Given the description of an element on the screen output the (x, y) to click on. 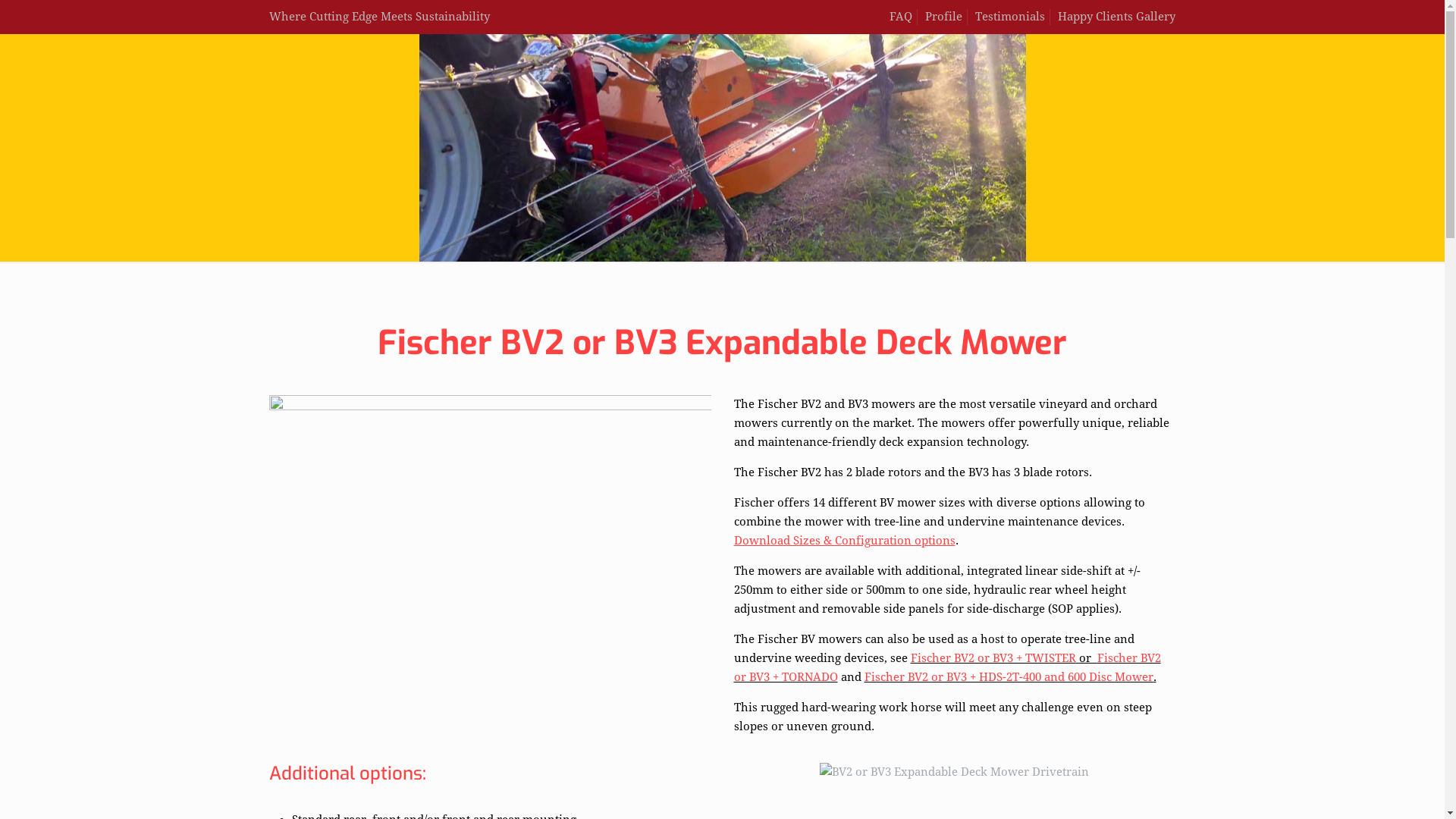
17 Display pic3 Element type: hover (490, 539)
Download Sizes & Configuration options Element type: text (844, 540)
Testimonials Element type: text (1009, 16)
FAQ Element type: text (900, 16)
Fischer BV2 or BV3 + TORNADO Element type: text (947, 667)
BV Expandable Deck Drivetrain Element type: hover (953, 771)
Happy Clients Gallery Element type: text (1116, 16)
Fischer BV2 or BV3 + TWISTER Element type: text (992, 658)
Fischer BV2 or BV3 + HDS-2T-400 and 600 Disc Mower Element type: text (1008, 677)
Profile Element type: text (943, 16)
